Given the description of an element on the screen output the (x, y) to click on. 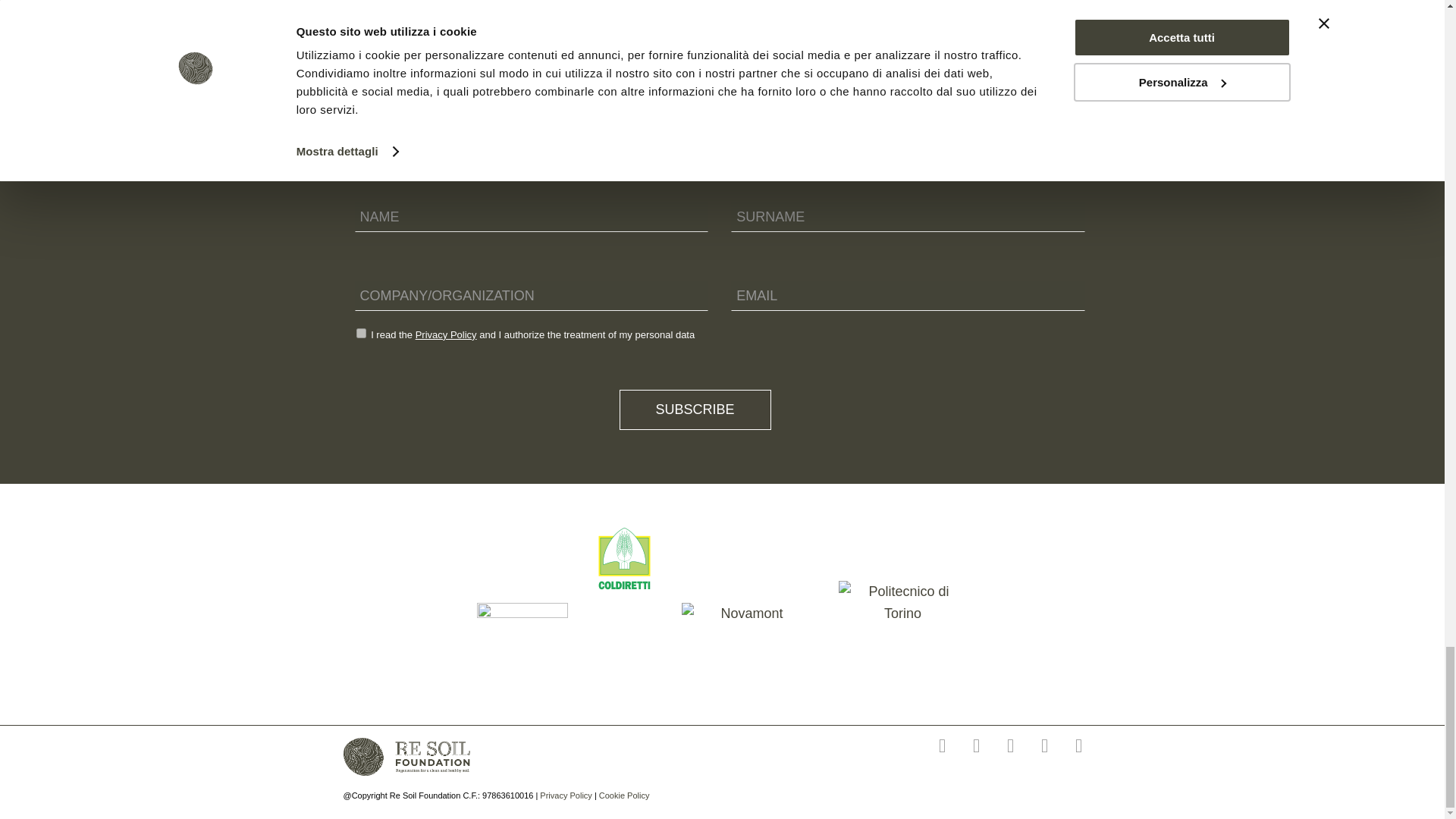
SUBSCRIBE (694, 409)
1 (361, 333)
